Given the description of an element on the screen output the (x, y) to click on. 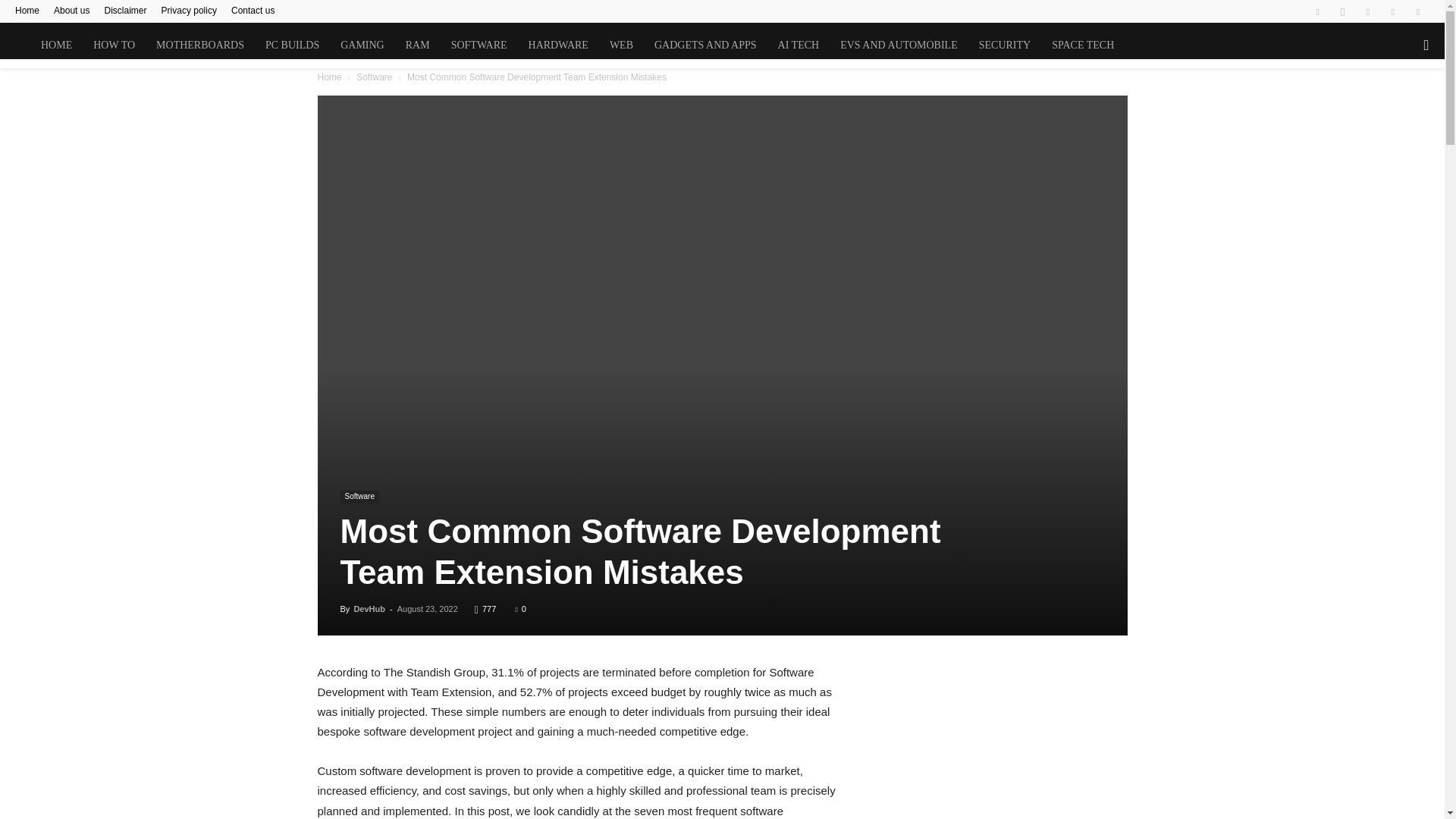
Instagram (1343, 11)
Contact us (253, 9)
RAM (417, 44)
HOME (56, 44)
About us (70, 9)
Vimeo (1393, 11)
GAMING (362, 44)
Home (26, 9)
Twitter (1367, 11)
Facebook (1317, 11)
PC BUILDS (292, 44)
Privacy policy (188, 9)
HOW TO (113, 44)
MOTHERBOARDS (199, 44)
View all posts in Software (373, 77)
